Given the description of an element on the screen output the (x, y) to click on. 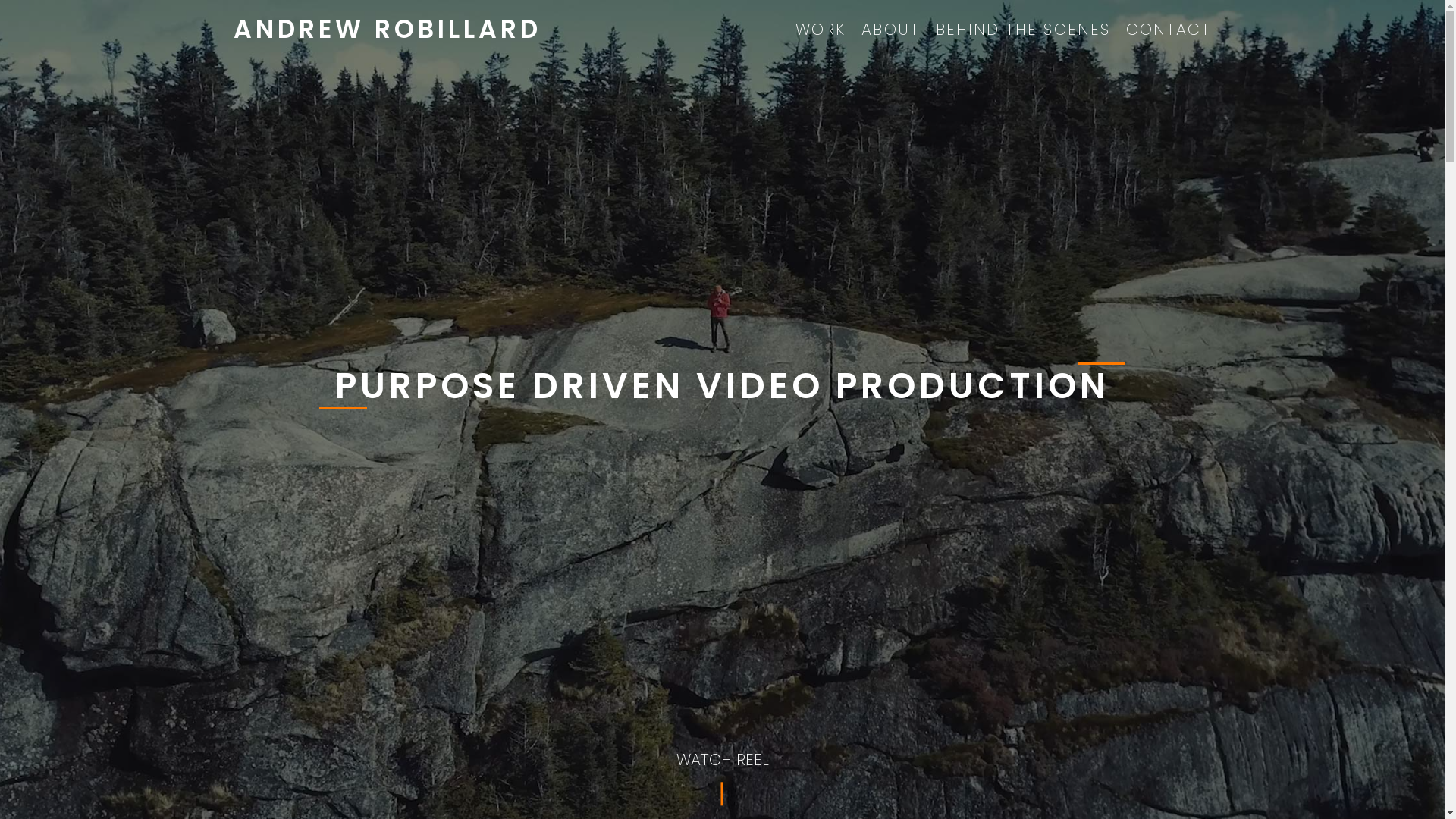
CONTACT Element type: text (1168, 29)
ABOUT Element type: text (890, 29)
WORK Element type: text (820, 29)
WATCH REEL Element type: text (722, 759)
ANDREW ROBILLARD Element type: text (387, 29)
BEHIND THE SCENES Element type: text (1022, 29)
